Given the description of an element on the screen output the (x, y) to click on. 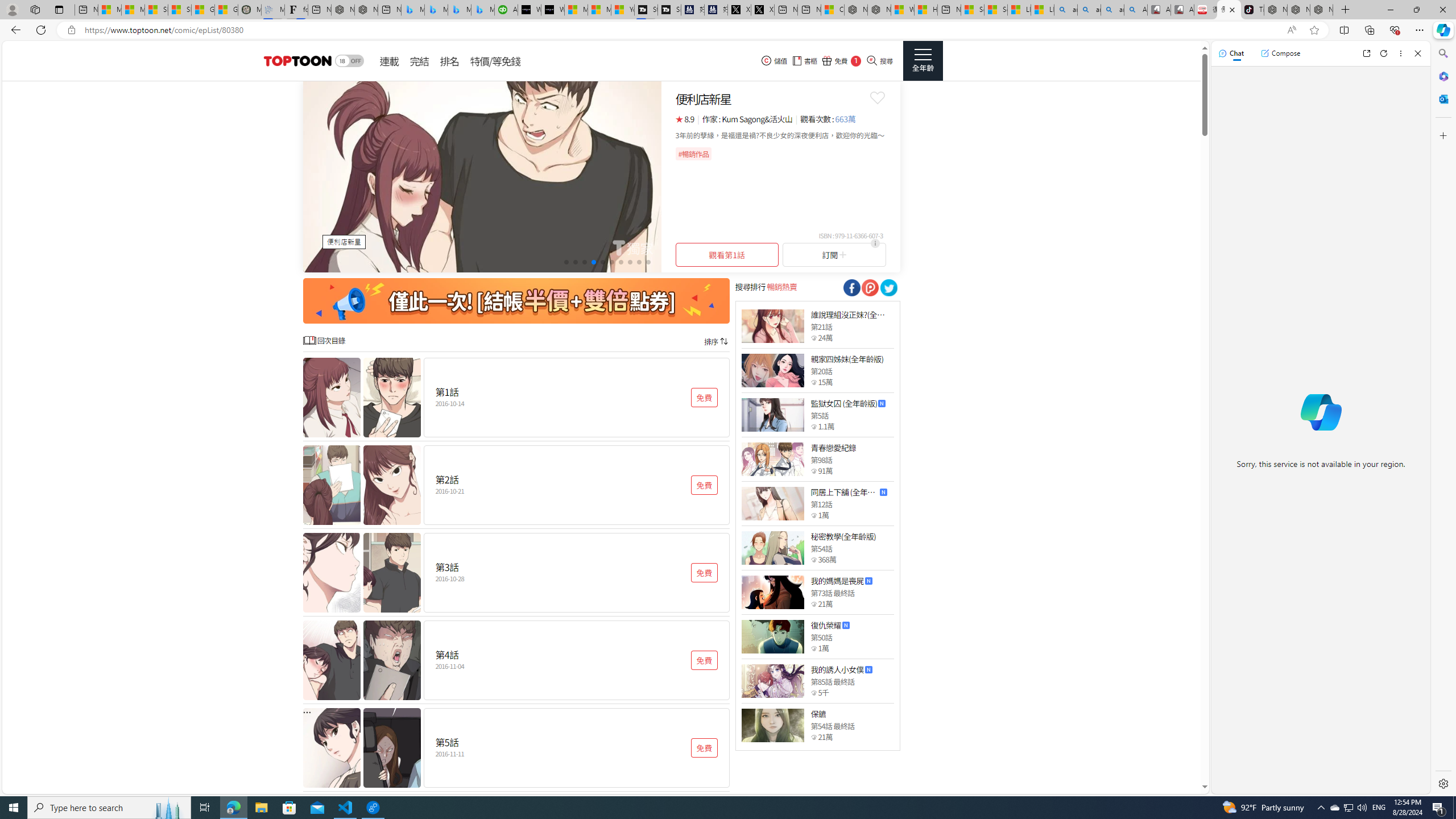
Class: epicon_starpoint (813, 736)
Compose (1280, 52)
Go to slide 4 (593, 261)
Accounting Software for Accountants, CPAs and Bookkeepers (505, 9)
Workspaces (34, 9)
Shanghai, China weather forecast | Microsoft Weather (179, 9)
Huge shark washes ashore at New York City beach | Watch (926, 9)
Class: swiper-slide swiper-slide-prev (481, 176)
View site information (70, 29)
New tab (949, 9)
